Given the description of an element on the screen output the (x, y) to click on. 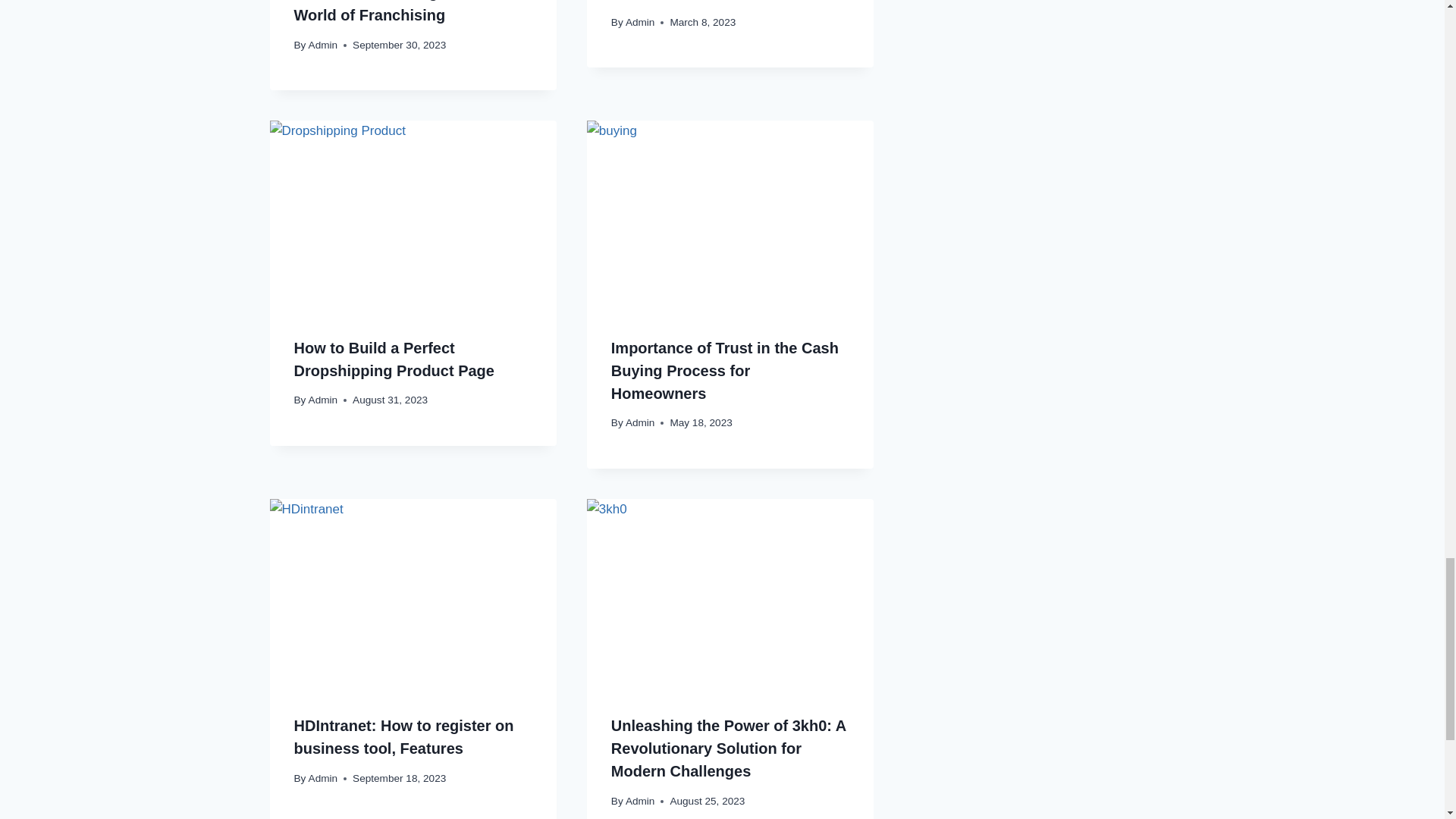
Admin (322, 44)
Admin (640, 21)
